Given the description of an element on the screen output the (x, y) to click on. 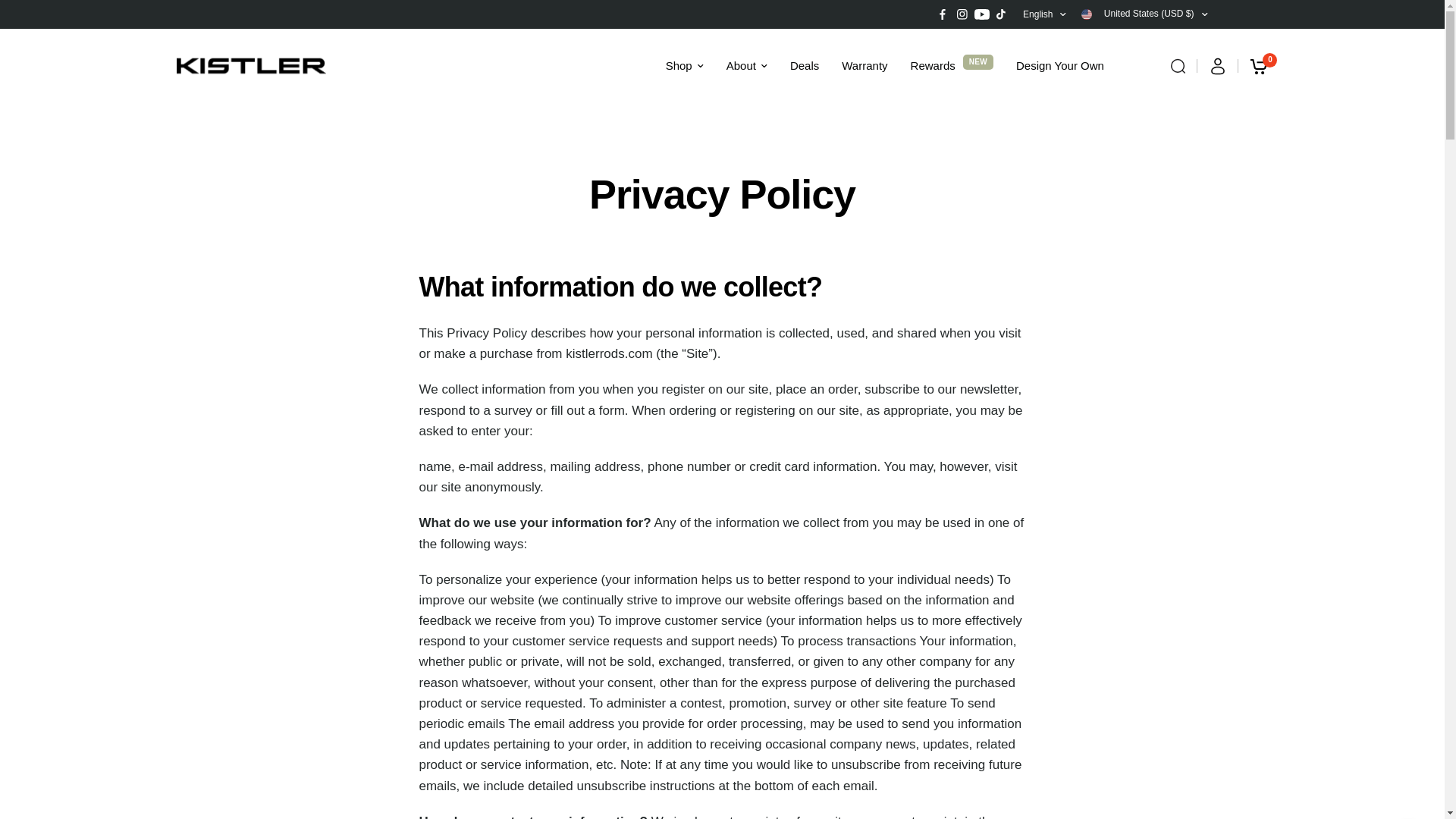
Warranty (863, 65)
Instagram (962, 14)
TikTok (1001, 14)
YouTube (981, 14)
English (1044, 13)
Shop (684, 65)
Rewards (933, 65)
Facebook (942, 14)
About (746, 65)
Deals (804, 65)
